Given the description of an element on the screen output the (x, y) to click on. 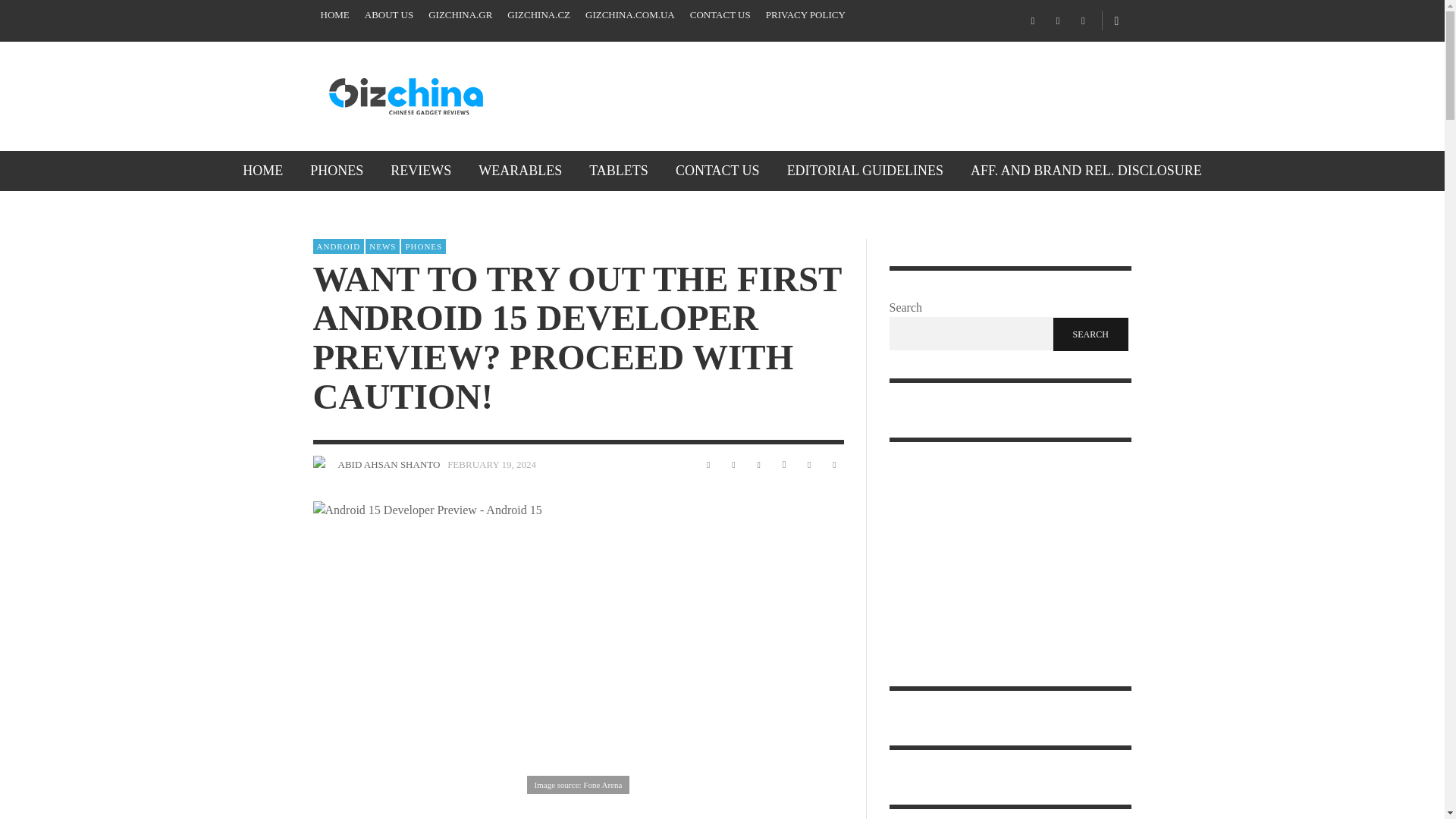
PHONES (337, 170)
ABOUT US (388, 15)
HOME (262, 170)
REVIEWS (420, 170)
GIZCHINA.COM.UA (630, 15)
PRIVACY POLICY (805, 15)
GIZCHINA.GR (459, 15)
GIZCHINA.CZ (538, 15)
HOME (334, 15)
CONTACT US (720, 15)
